Given the description of an element on the screen output the (x, y) to click on. 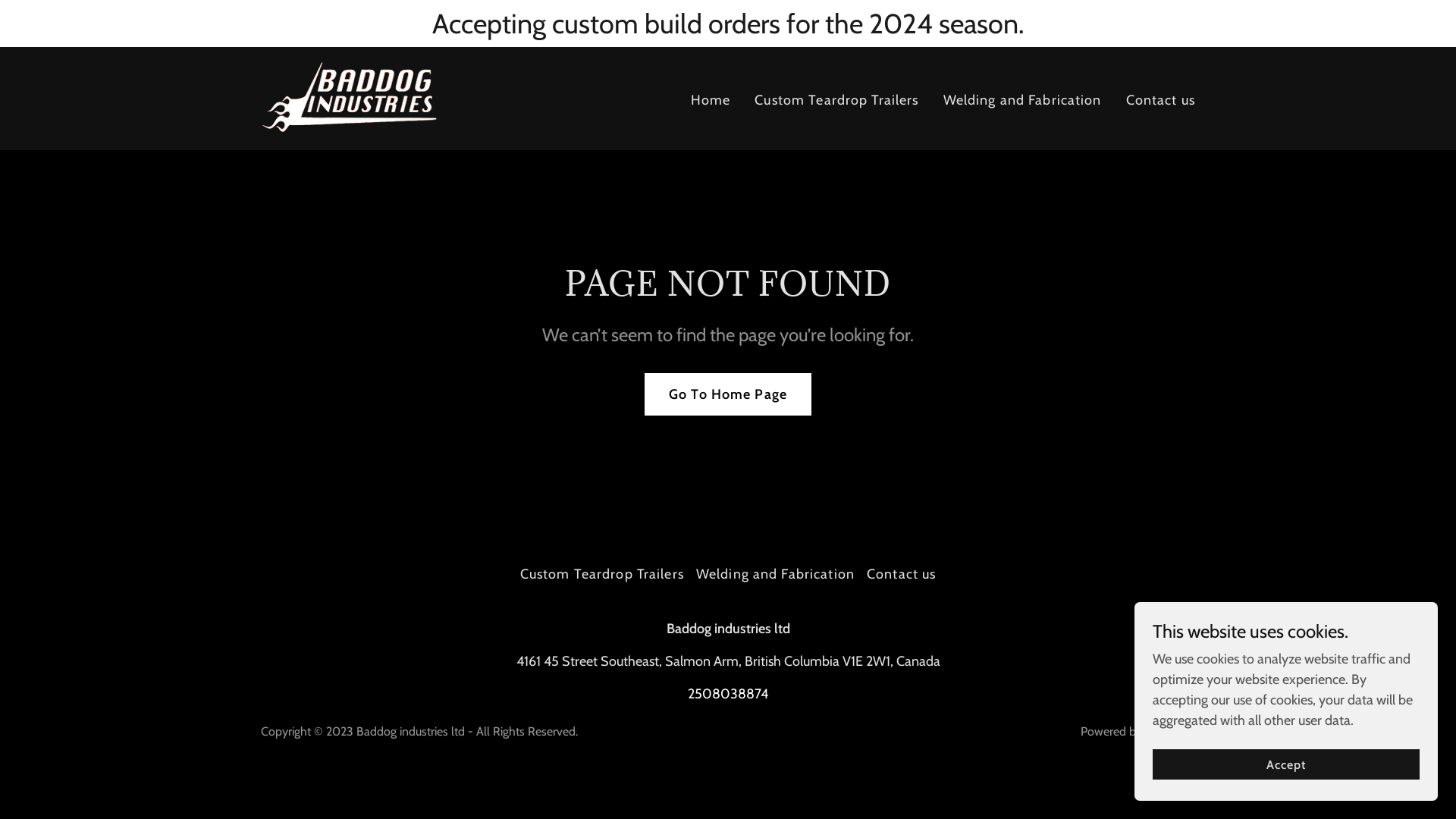
Accept Element type: text (1285, 764)
Contact us Element type: text (1160, 100)
currently ACCEPTING orders for the 2023 season Element type: hover (350, 96)
Go To Home Page Element type: text (727, 394)
Home Element type: text (710, 100)
Custom Teardrop Trailers Element type: text (602, 573)
Welding and Fabrication Element type: text (1022, 100)
Welding and Fabrication Element type: text (775, 573)
2508038874 Element type: text (727, 693)
Custom Teardrop Trailers Element type: text (835, 100)
Contact us Element type: text (900, 573)
GoDaddy Element type: text (1170, 731)
